Given the description of an element on the screen output the (x, y) to click on. 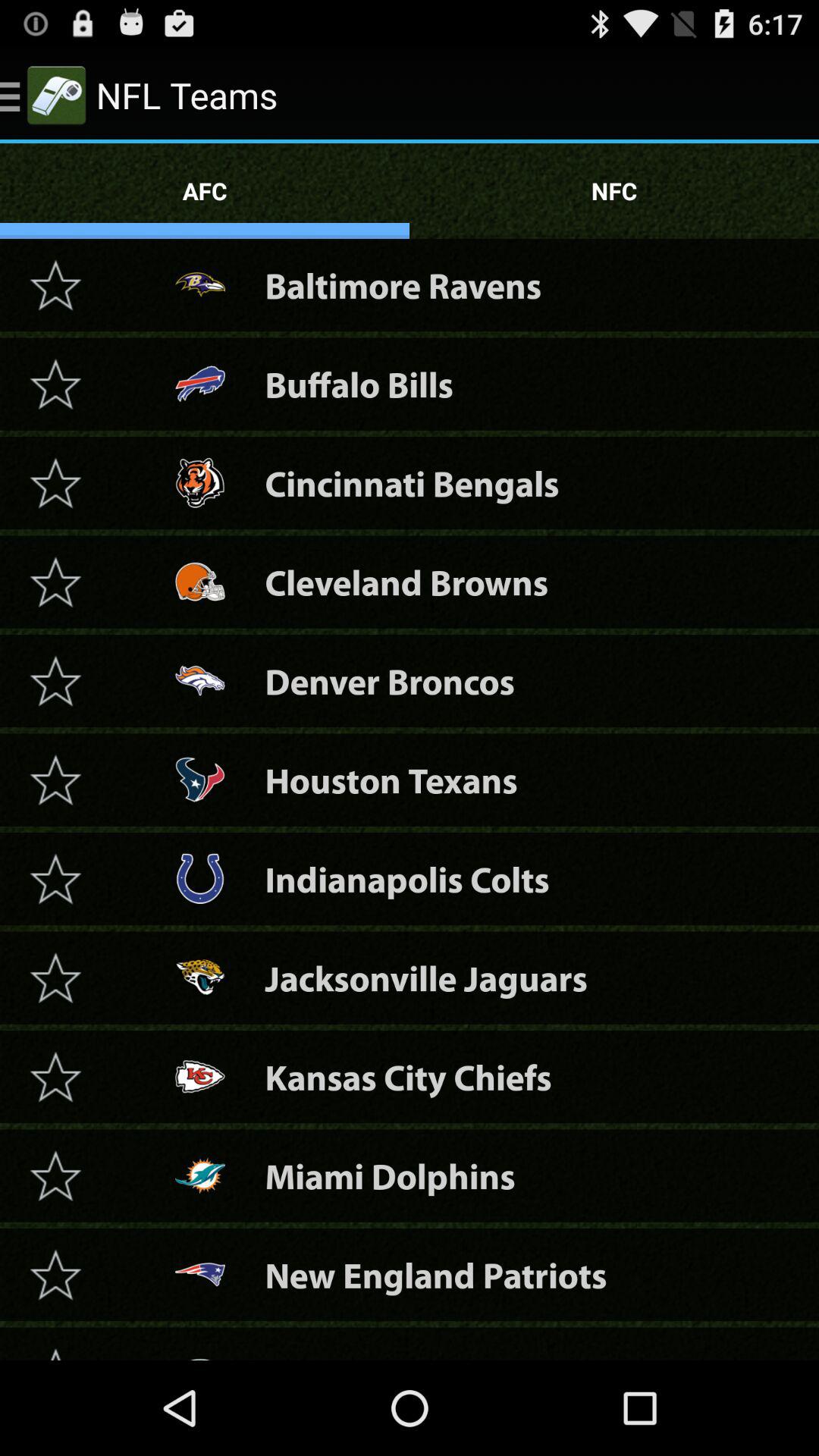
launch the item above the new england patriots item (390, 1175)
